Given the description of an element on the screen output the (x, y) to click on. 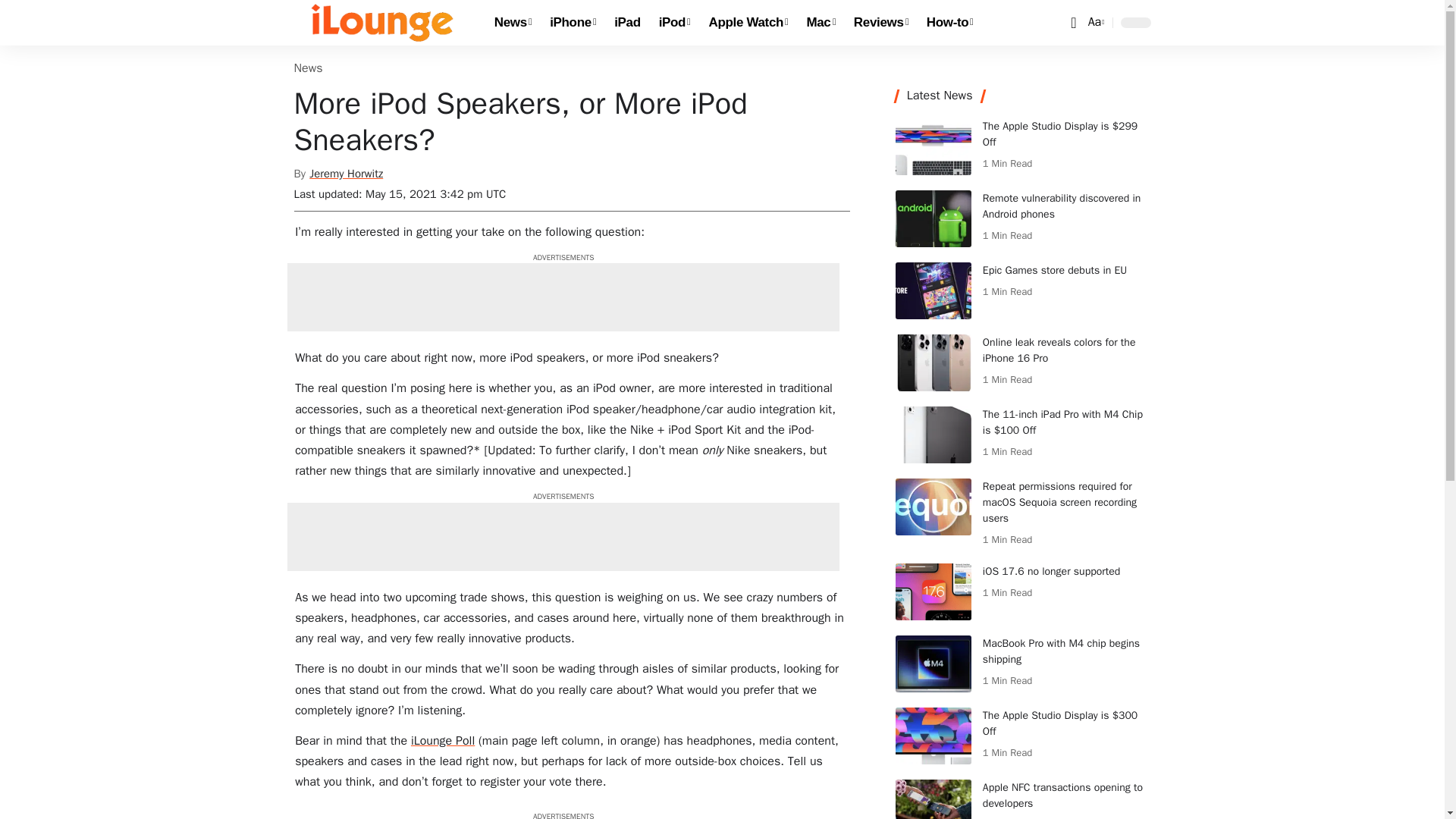
iPhone (572, 22)
iPad (627, 22)
How-to (949, 22)
Reviews (880, 22)
Apple NFC transactions opening to developers (933, 799)
Epic Games store debuts in EU (933, 290)
Apple Watch (748, 22)
Mac (820, 22)
Advertisement (563, 296)
